Given the description of an element on the screen output the (x, y) to click on. 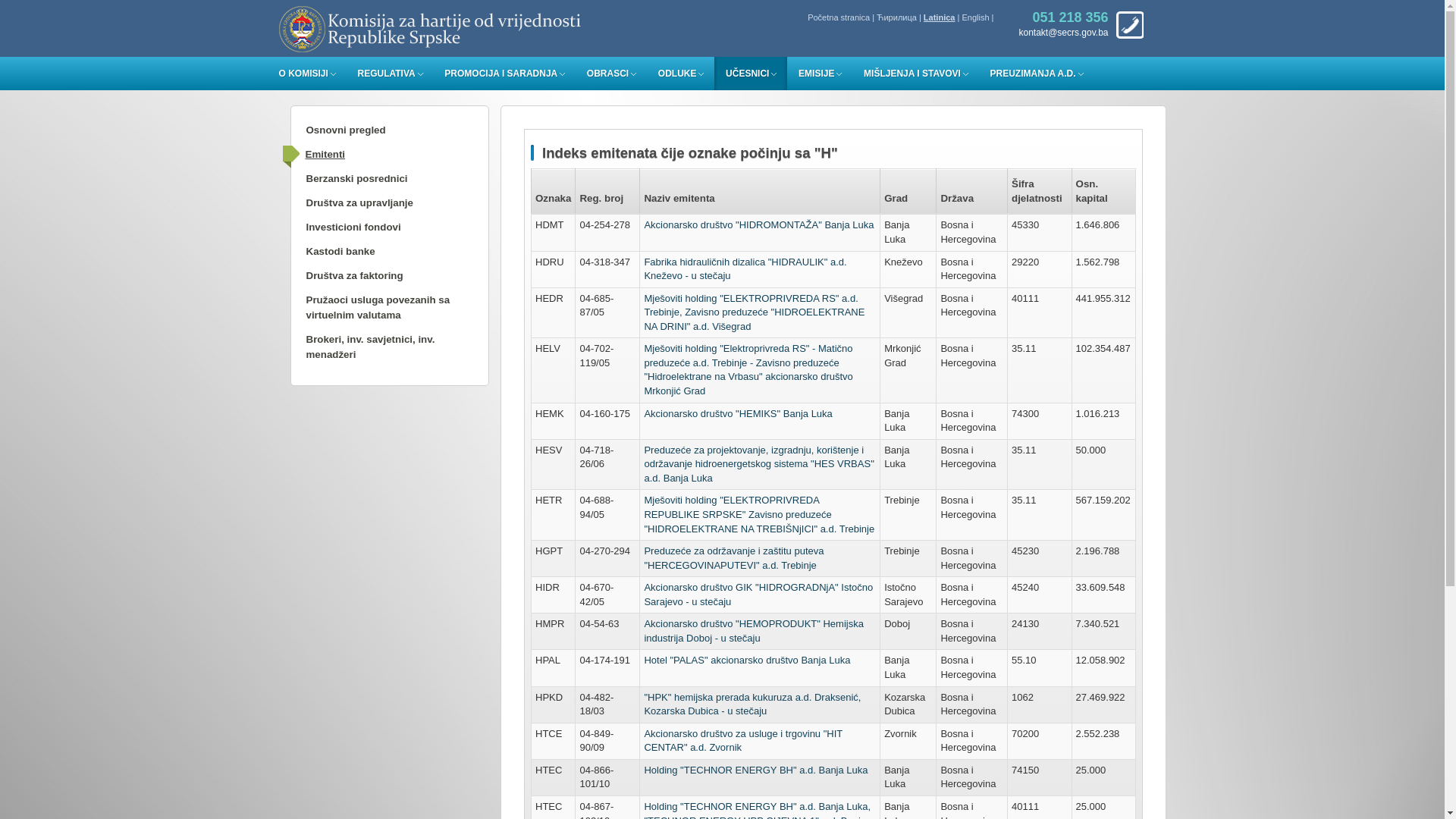
ODLUKE Element type: text (685, 73)
OBRASCI Element type: text (614, 73)
REGULATIVA Element type: text (393, 73)
PROMOCIJA I SARADNJA Element type: text (508, 73)
Emitenti Element type: text (373, 161)
Berzanski posrednici Element type: text (374, 185)
Kastodi banke Element type: text (374, 258)
Holding "TECHNOR ENERGY BH" a.d. Banja Luka Element type: text (755, 769)
EMISIJE Element type: text (823, 73)
Investicioni fondovi Element type: text (374, 234)
English Element type: text (974, 16)
PREUZIMANJA A.D. Element type: text (1040, 73)
Osnovni pregled Element type: text (374, 137)
O KOMISIJI Element type: text (311, 73)
Latinica Element type: text (939, 16)
